Given the description of an element on the screen output the (x, y) to click on. 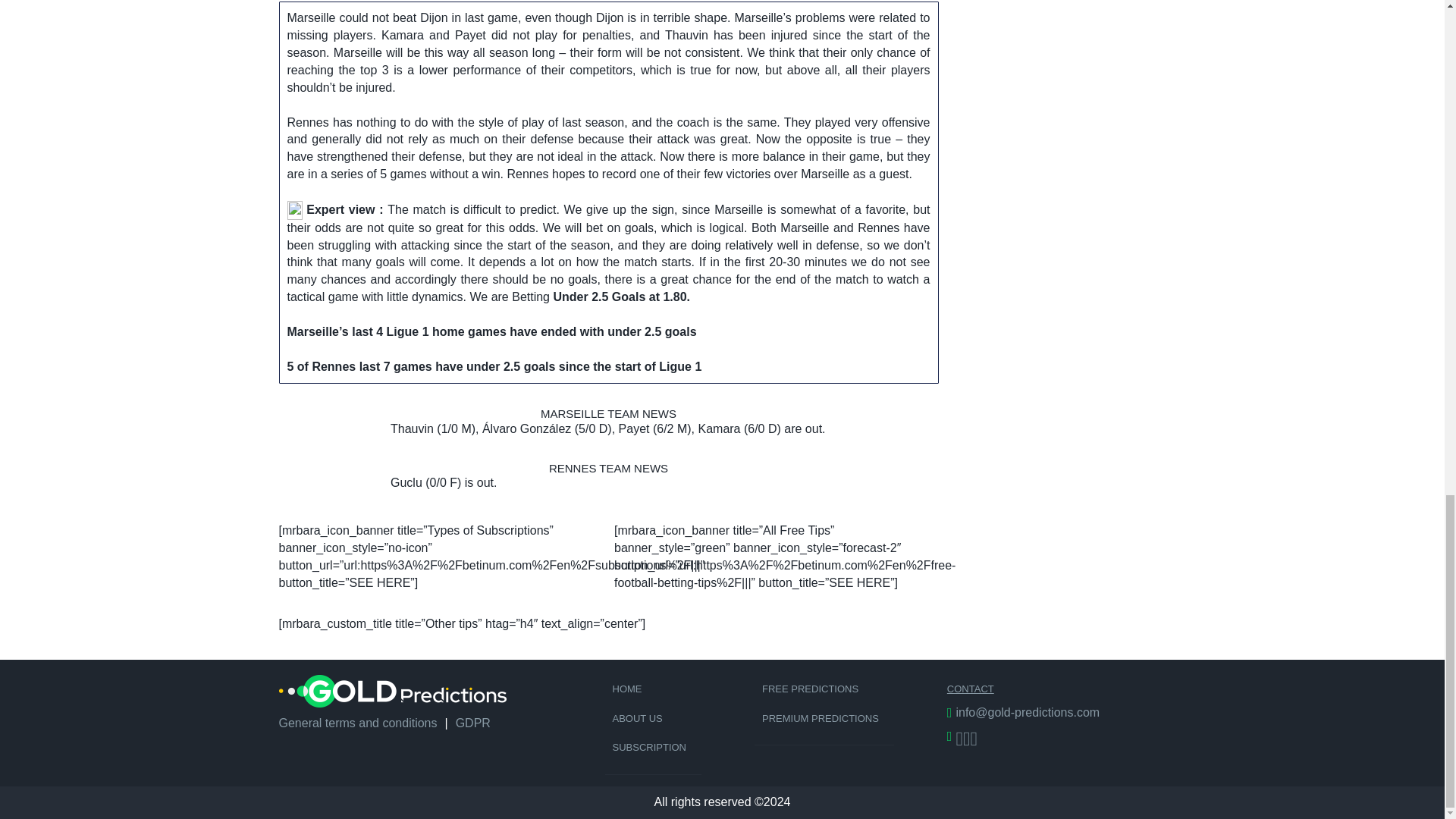
General terms and conditions (358, 723)
GDPR (472, 723)
SUBSCRIPTION (653, 747)
HOME (653, 689)
FREE PREDICTIONS (823, 689)
PREMIUM PREDICTIONS (823, 718)
ABOUT US (653, 718)
